Given the description of an element on the screen output the (x, y) to click on. 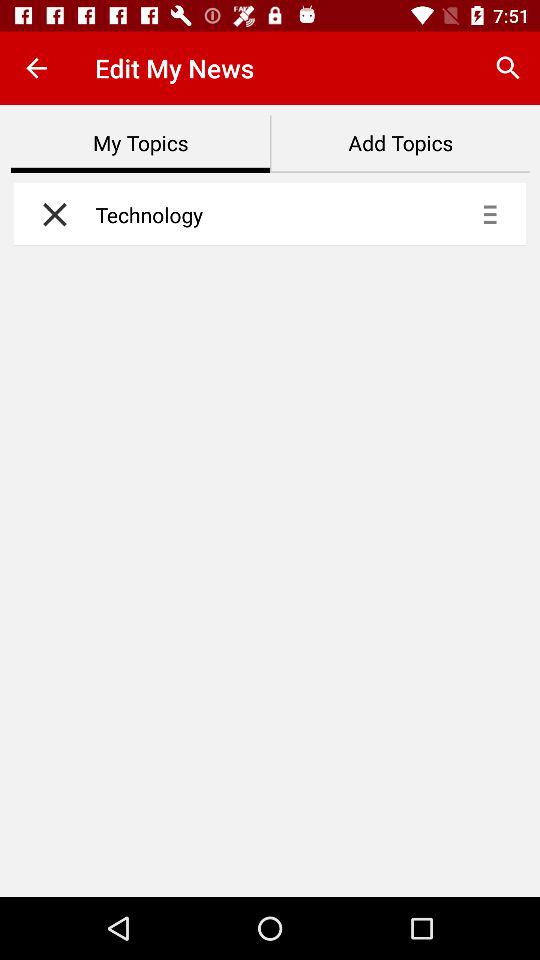
tap the icon next to edit my news item (508, 67)
